Given the description of an element on the screen output the (x, y) to click on. 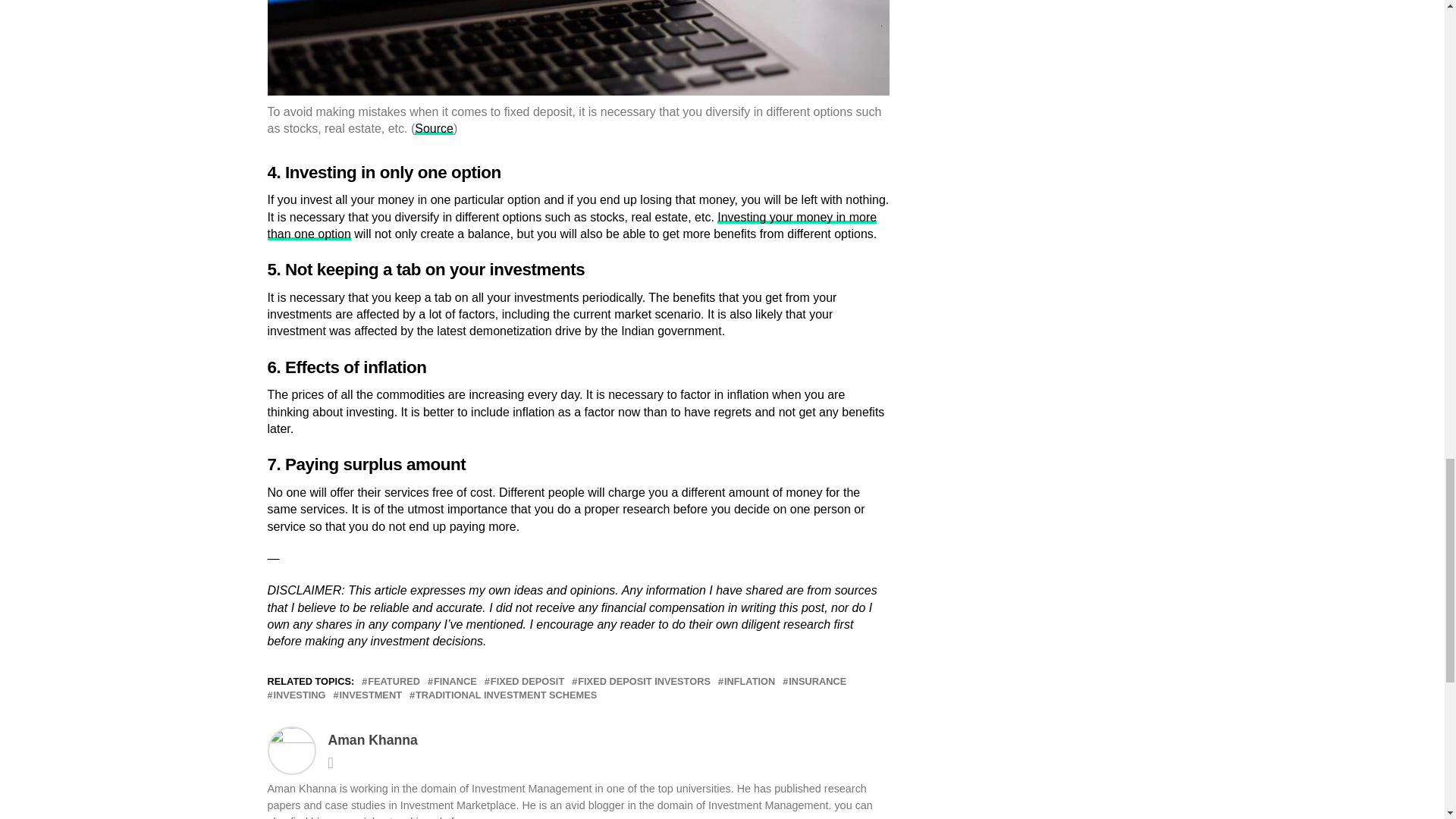
Source (433, 128)
Posts by Aman Khanna (371, 739)
FIXED DEPOSIT (527, 682)
FINANCE (455, 682)
Investing your money in more than one option (571, 225)
INFLATION (748, 682)
FEATURED (394, 682)
FIXED DEPOSIT INVESTORS (644, 682)
